Given the description of an element on the screen output the (x, y) to click on. 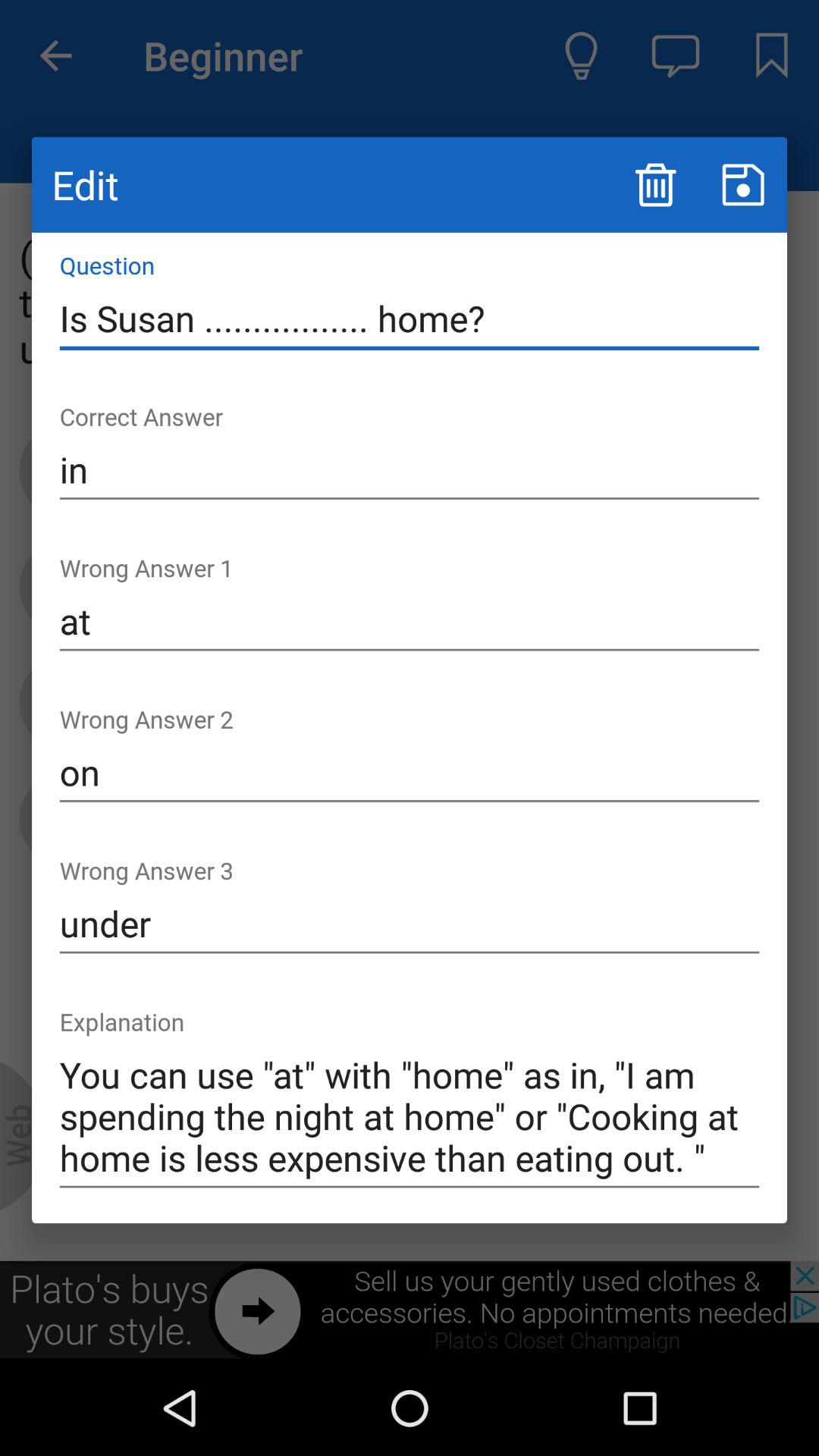
turn on item above the you can use icon (409, 924)
